Given the description of an element on the screen output the (x, y) to click on. 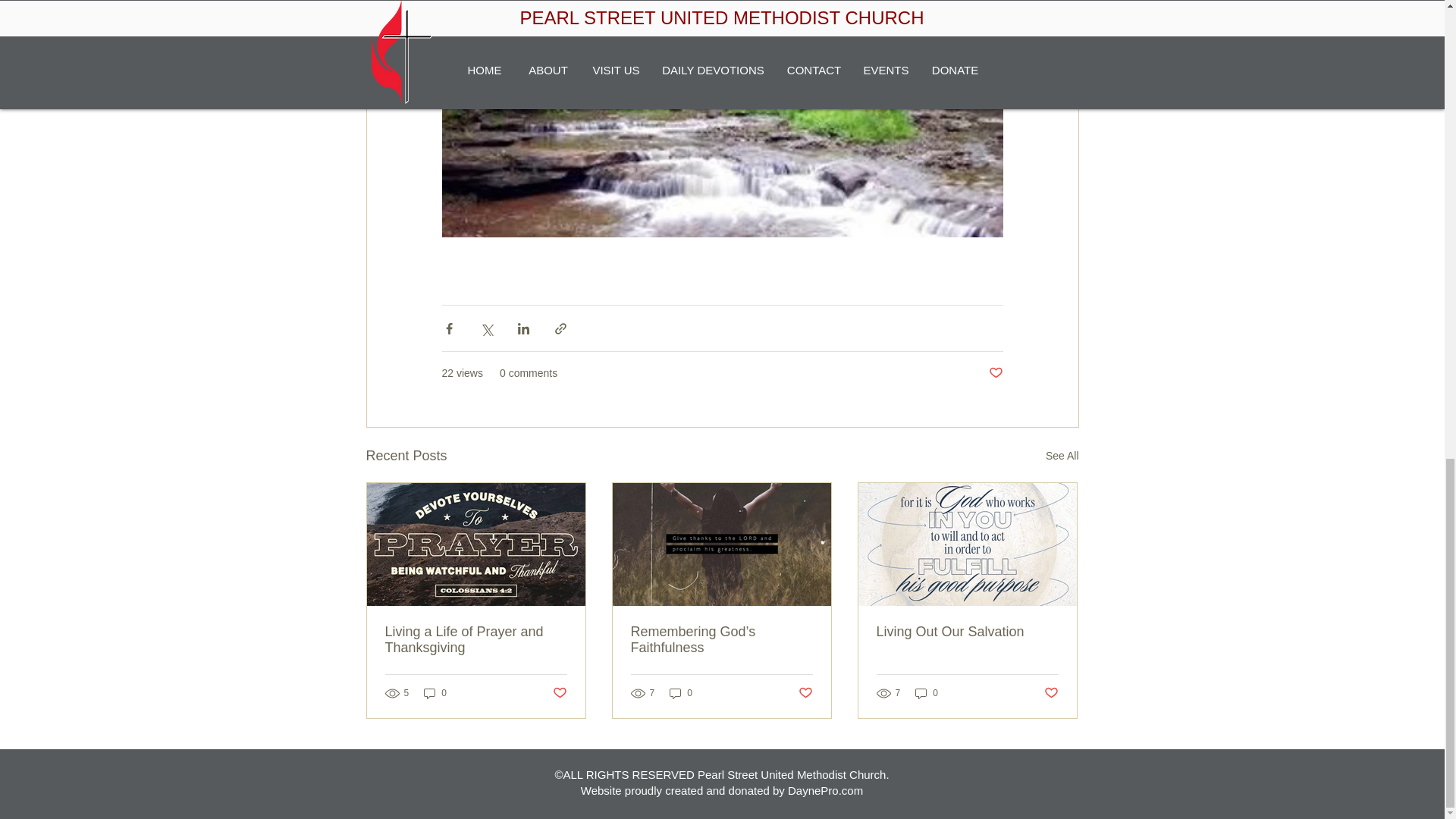
Post not marked as liked (804, 693)
Living a Life of Prayer and Thanksgiving (476, 640)
See All (1061, 455)
Post not marked as liked (558, 693)
0 (435, 693)
Post not marked as liked (1050, 693)
0 (681, 693)
0 (926, 693)
Post not marked as liked (995, 373)
Living Out Our Salvation (967, 631)
